Given the description of an element on the screen output the (x, y) to click on. 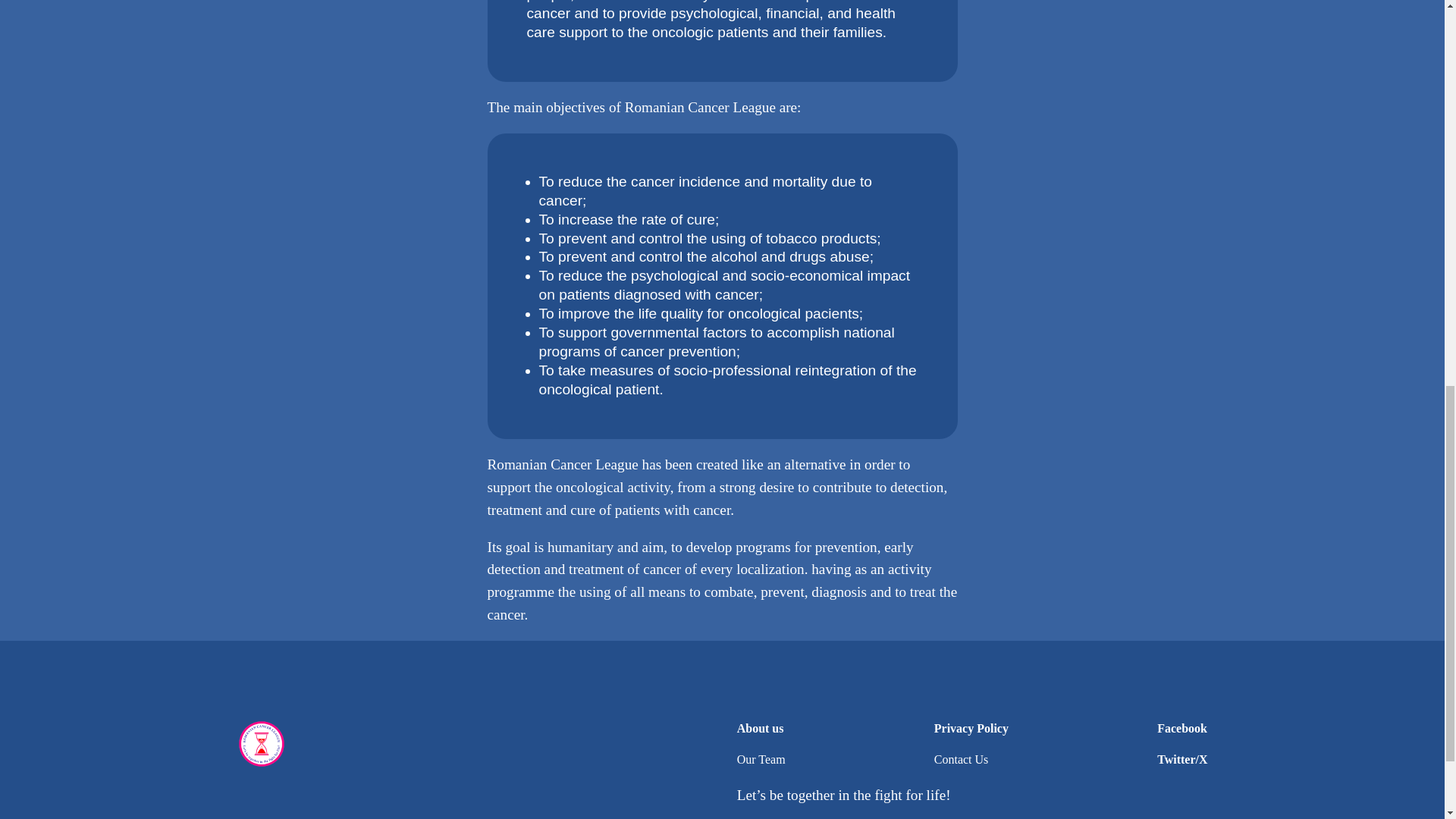
About us (760, 728)
Facebook (1182, 728)
Our Team (761, 760)
Contact Us (961, 760)
Privacy Policy (971, 728)
